Given the description of an element on the screen output the (x, y) to click on. 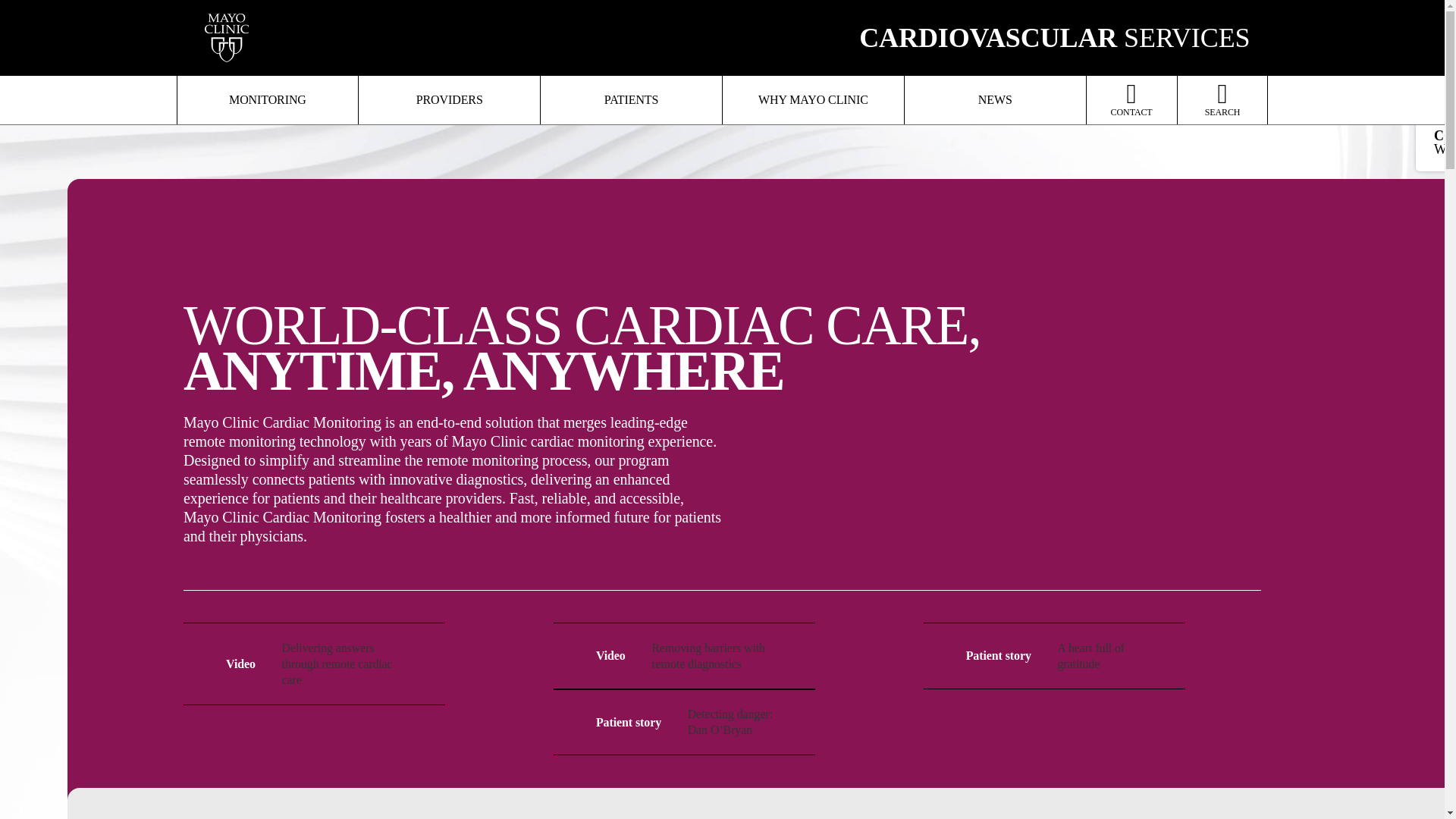
Video (611, 655)
Patient story (998, 655)
Providers (449, 100)
Patients (631, 100)
CARDIOVASCULAR SERVICES (1054, 37)
SEARCH (1222, 100)
Patient story (628, 721)
Video (240, 663)
WHY MAYO CLINIC (813, 100)
PATIENTS (631, 100)
